Given the description of an element on the screen output the (x, y) to click on. 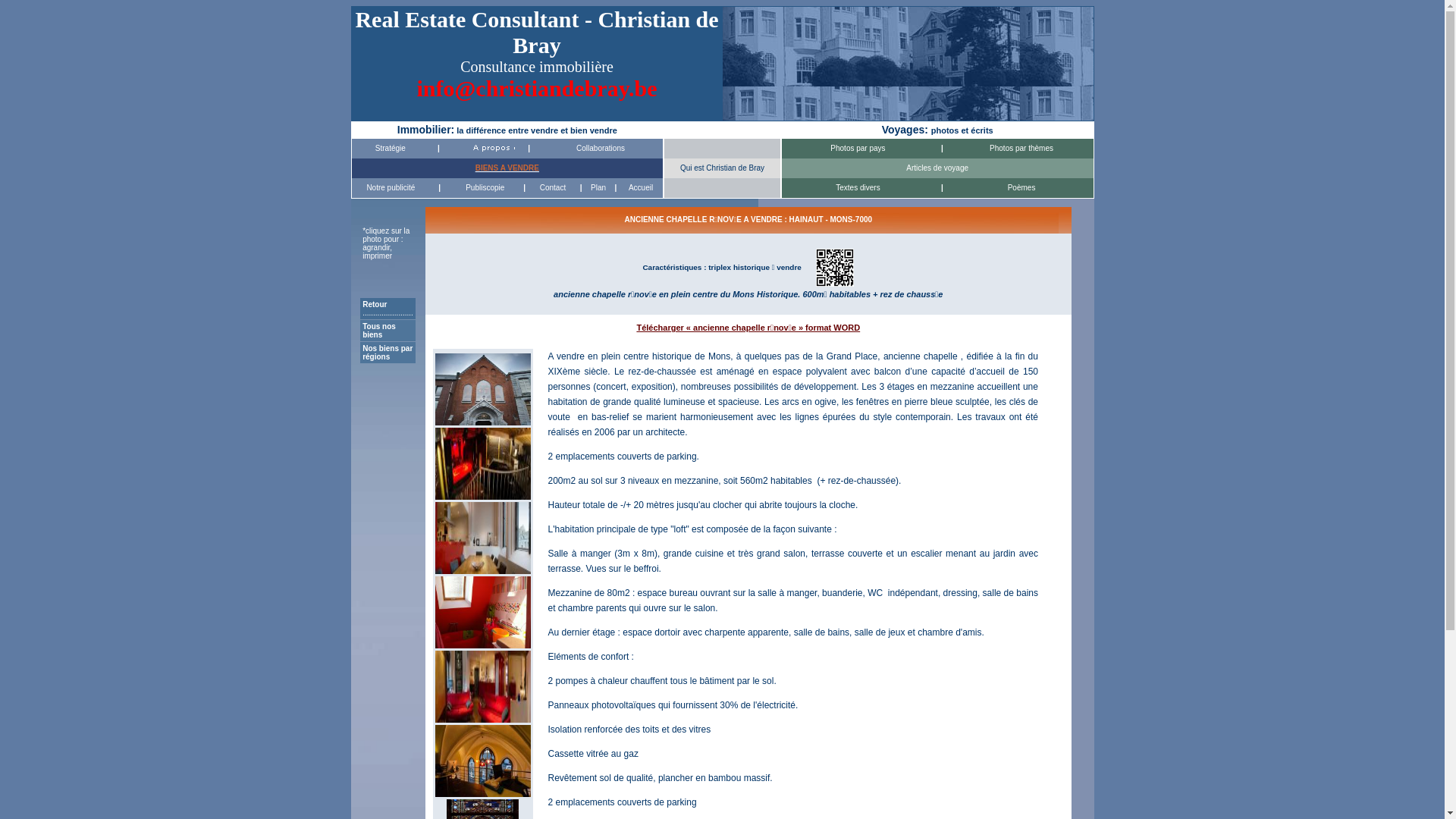
Articles de voyage Element type: text (937, 167)
Qui est Christian de Bray Element type: text (722, 167)
Contact Element type: text (552, 187)
Textes divers Element type: text (857, 187)
Collaborations Element type: text (600, 148)
Retour Element type: text (374, 304)
Tous nos biens Element type: text (378, 330)
Plan Element type: text (597, 187)
BIENS A VENDRE Element type: text (507, 167)
Publiscopie Element type: text (484, 187)
Accueil Element type: text (640, 187)
Photos par pays Element type: text (857, 148)
